Given the description of an element on the screen output the (x, y) to click on. 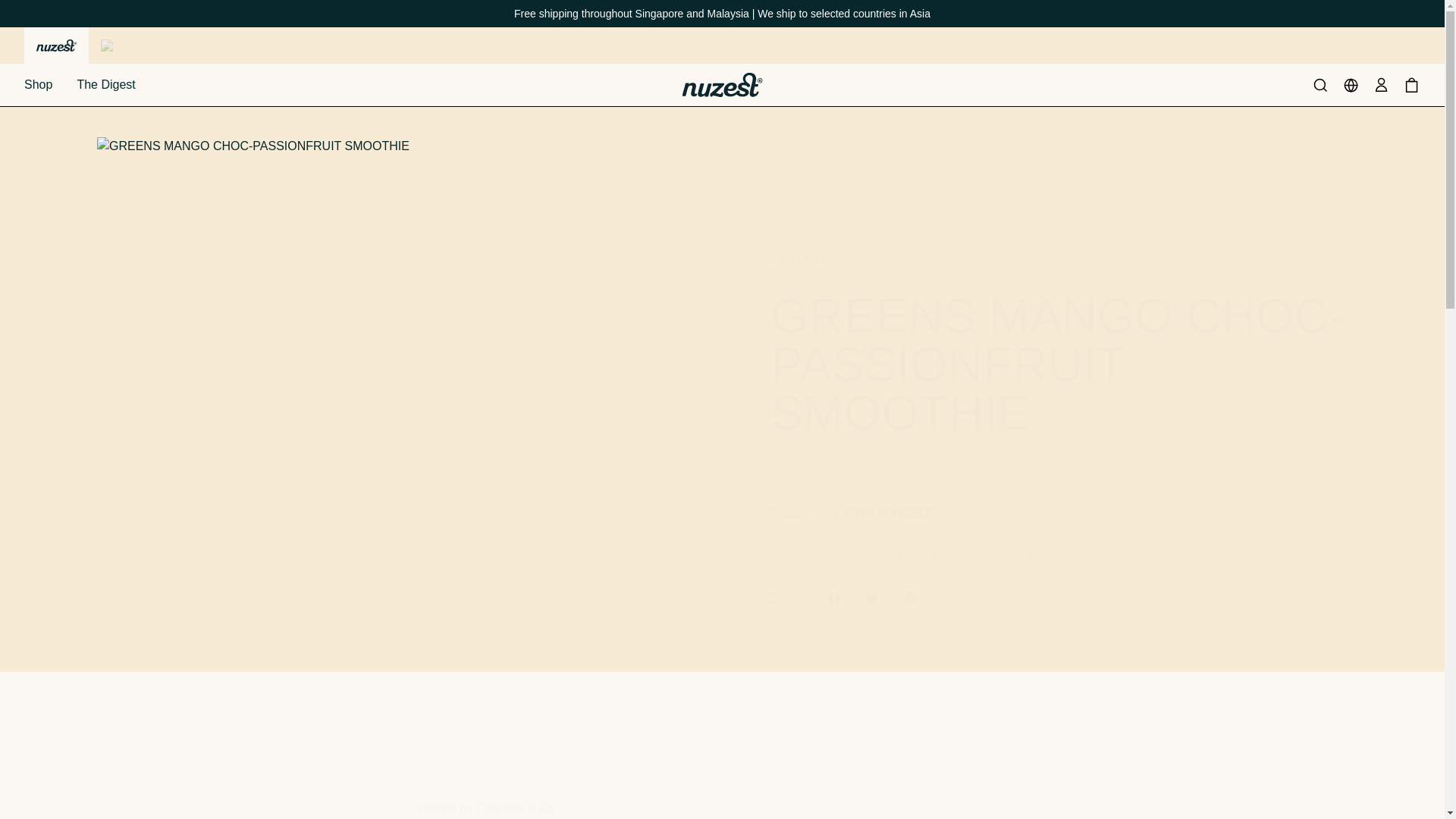
Shop (38, 84)
The Digest (106, 84)
